Given the description of an element on the screen output the (x, y) to click on. 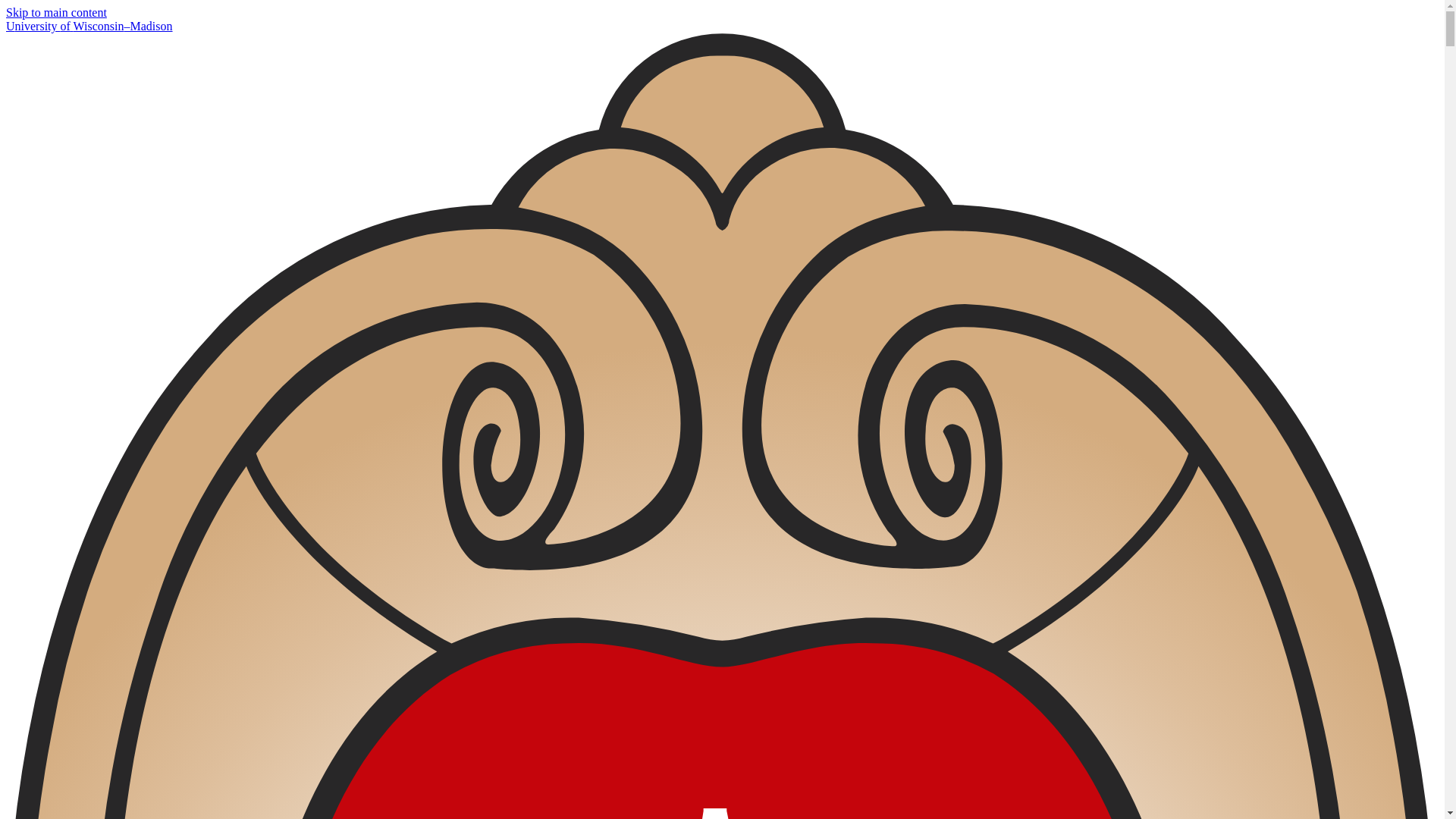
Skip to main content (55, 11)
